Given the description of an element on the screen output the (x, y) to click on. 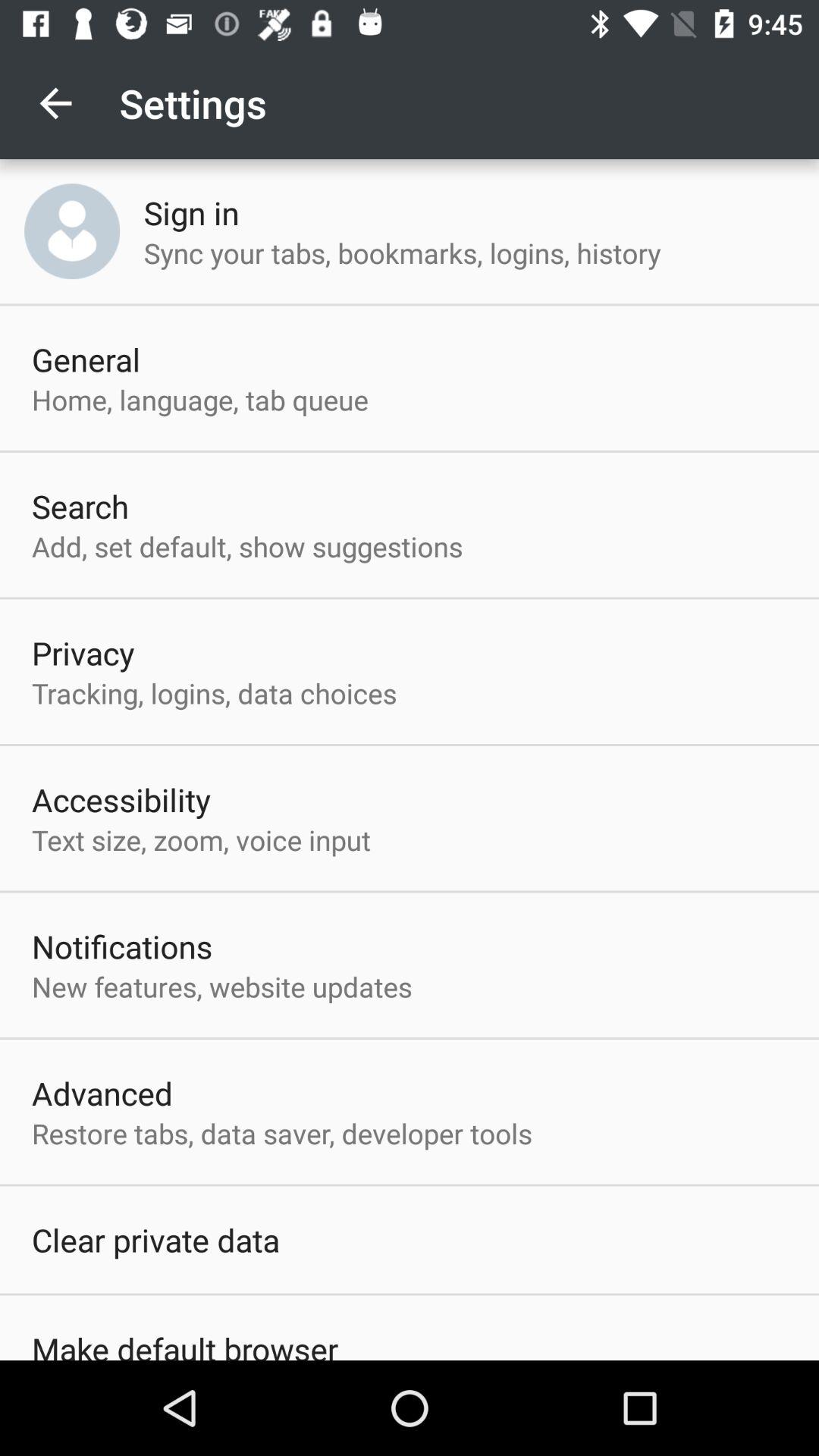
choose the item above search icon (199, 399)
